Given the description of an element on the screen output the (x, y) to click on. 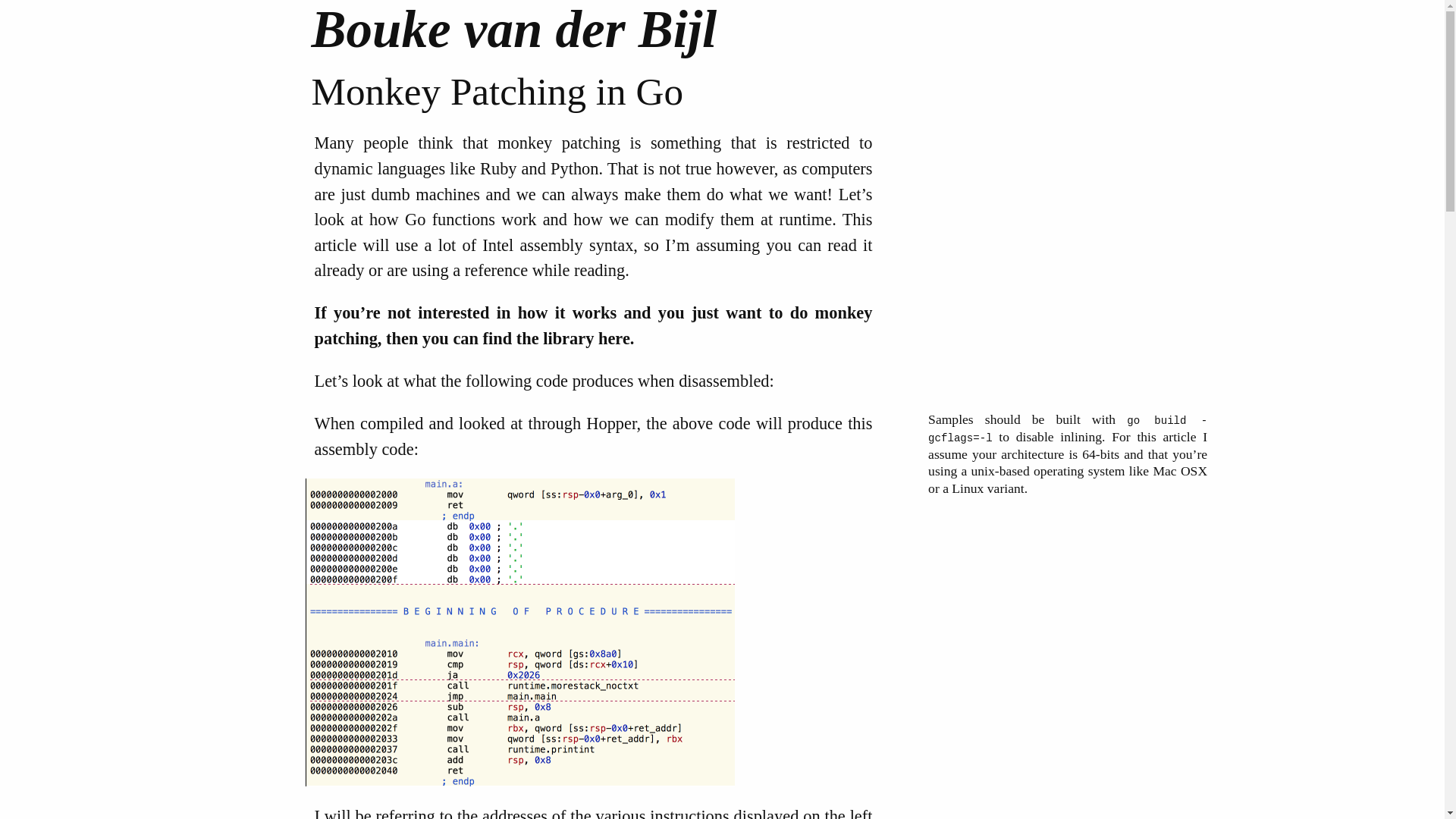
reference (495, 270)
here (614, 338)
Hopper (611, 423)
Bouke van der Bijl (721, 29)
